Given the description of an element on the screen output the (x, y) to click on. 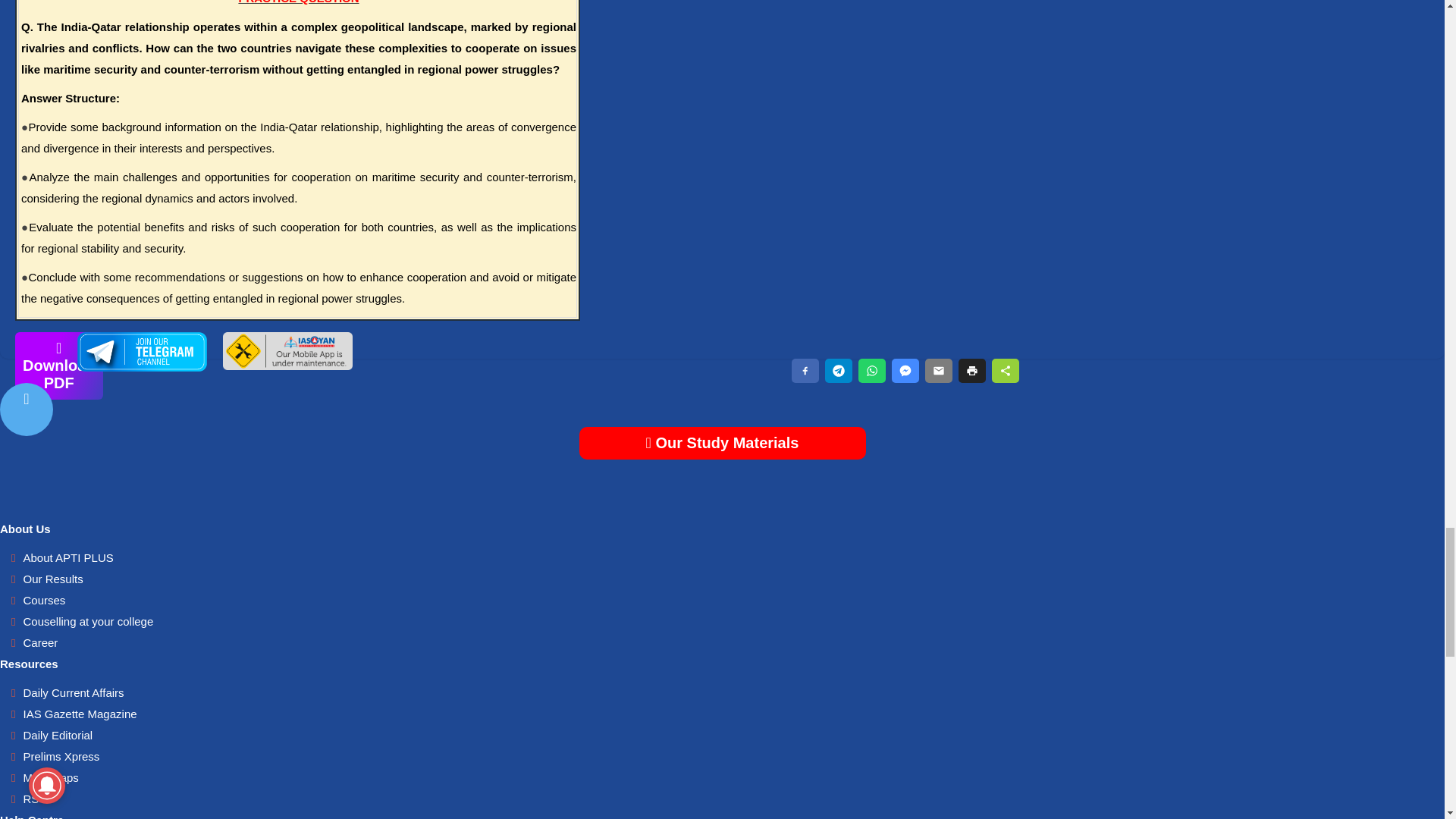
Download IAS Gyan Learning App (287, 365)
